Given the description of an element on the screen output the (x, y) to click on. 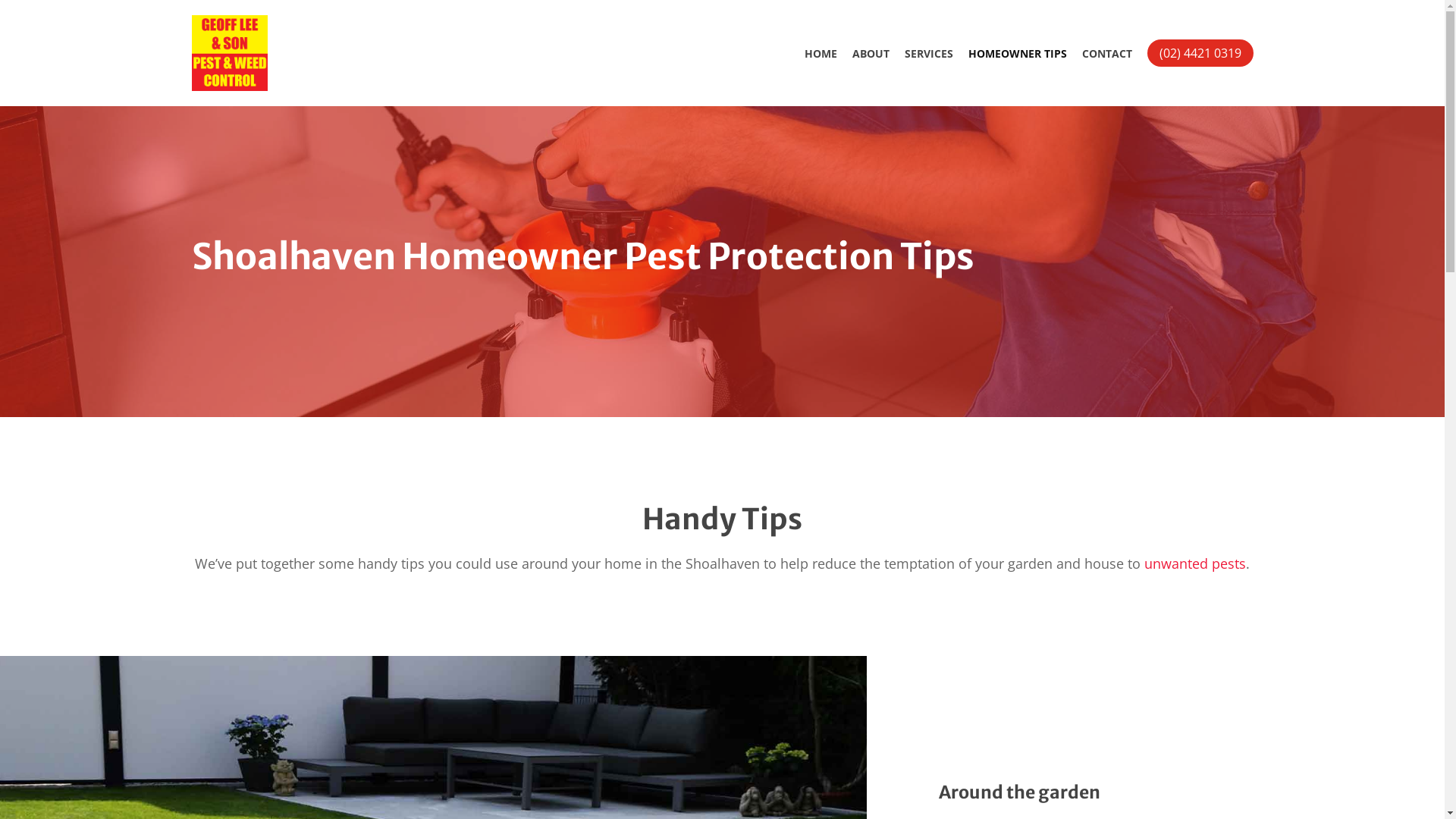
CONTACT Element type: text (1106, 53)
HOMEOWNER TIPS Element type: text (1016, 53)
HOME Element type: text (819, 53)
(02) 4421 0319 Element type: text (1199, 53)
unwanted pests Element type: text (1194, 563)
ABOUT Element type: text (870, 53)
SERVICES Element type: text (927, 53)
